Given the description of an element on the screen output the (x, y) to click on. 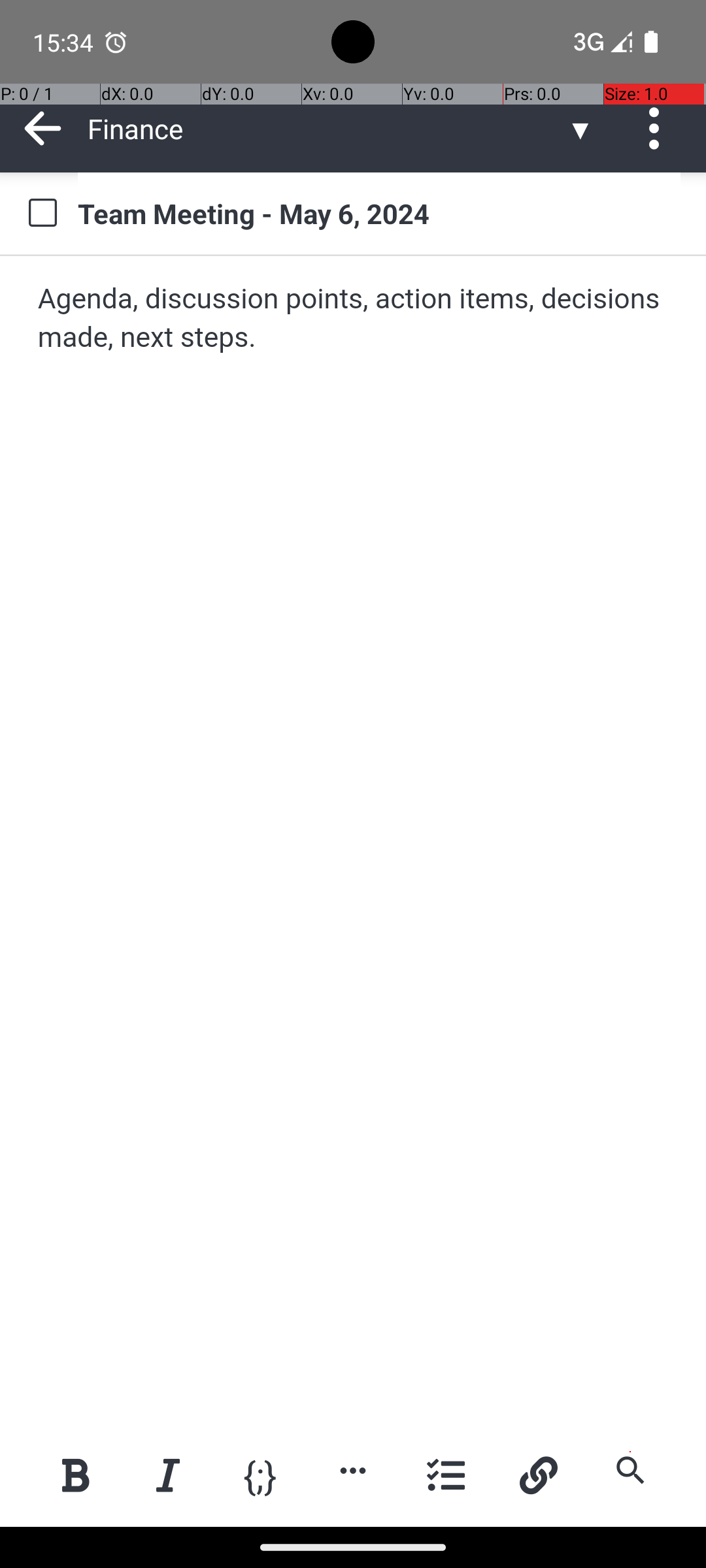
Agenda, discussion points, action items, decisions made, next steps. Element type: android.widget.EditText (354, 318)
